Given the description of an element on the screen output the (x, y) to click on. 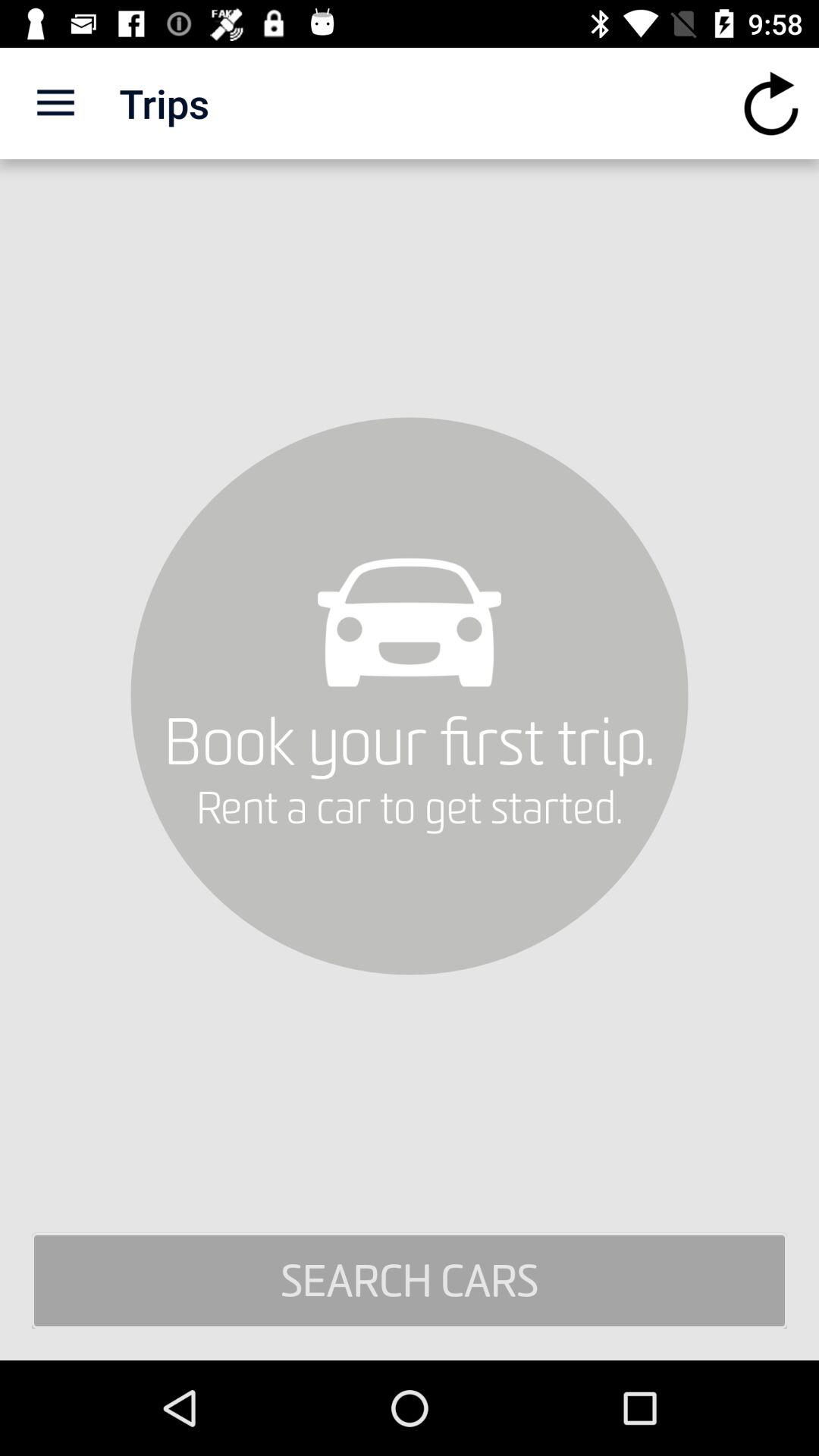
press search cars icon (409, 1280)
